Given the description of an element on the screen output the (x, y) to click on. 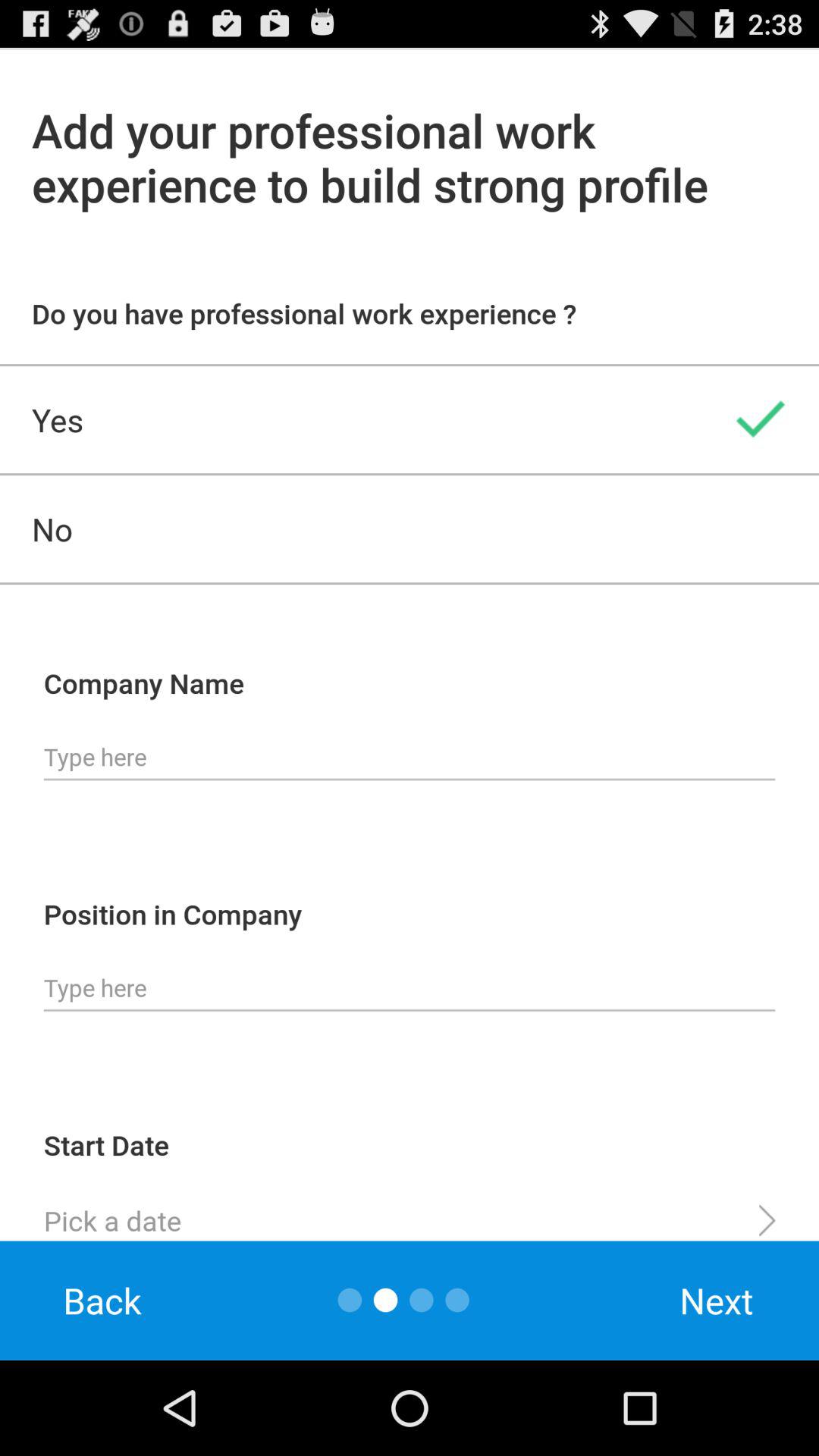
scroll until yes radio button (409, 419)
